Given the description of an element on the screen output the (x, y) to click on. 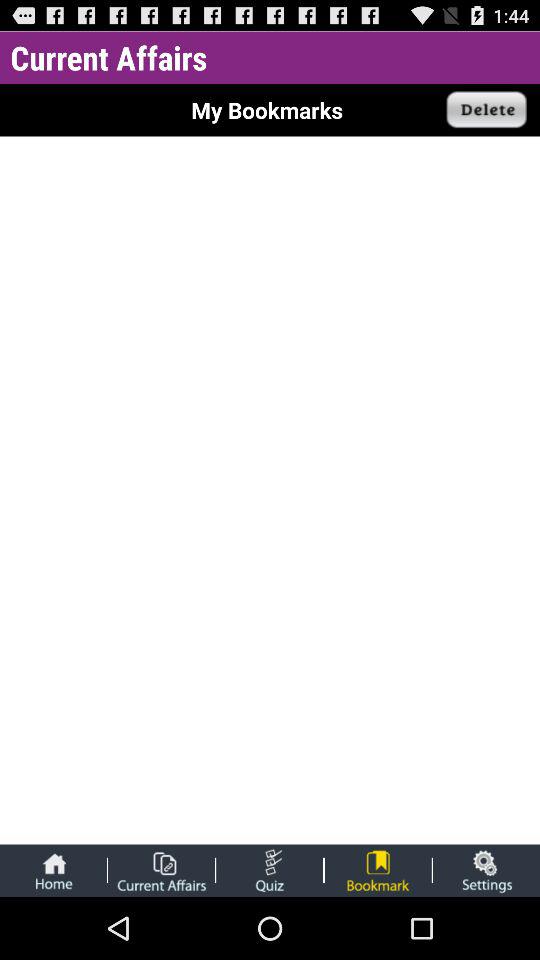
open the app next to the my bookmarks  app (487, 109)
